Given the description of an element on the screen output the (x, y) to click on. 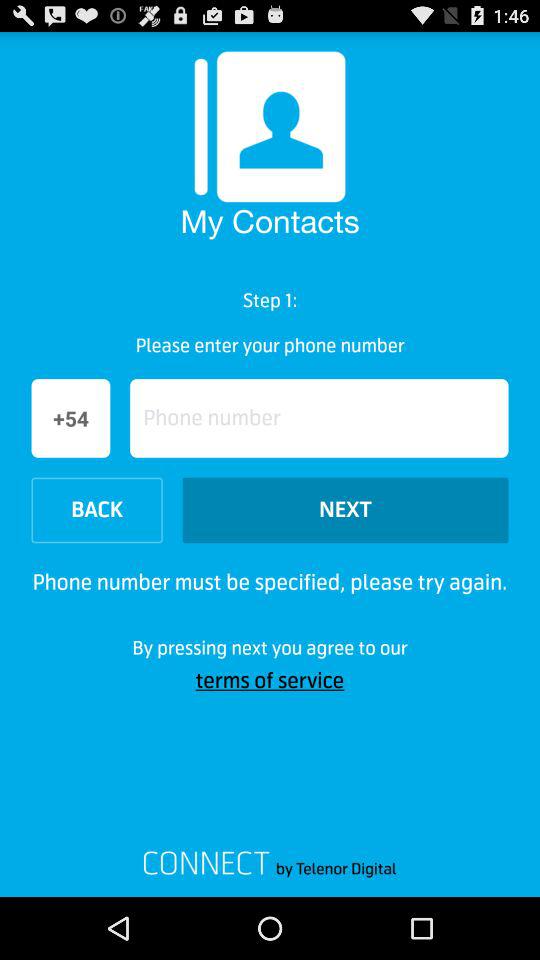
text box to enter phone number (319, 417)
